Given the description of an element on the screen output the (x, y) to click on. 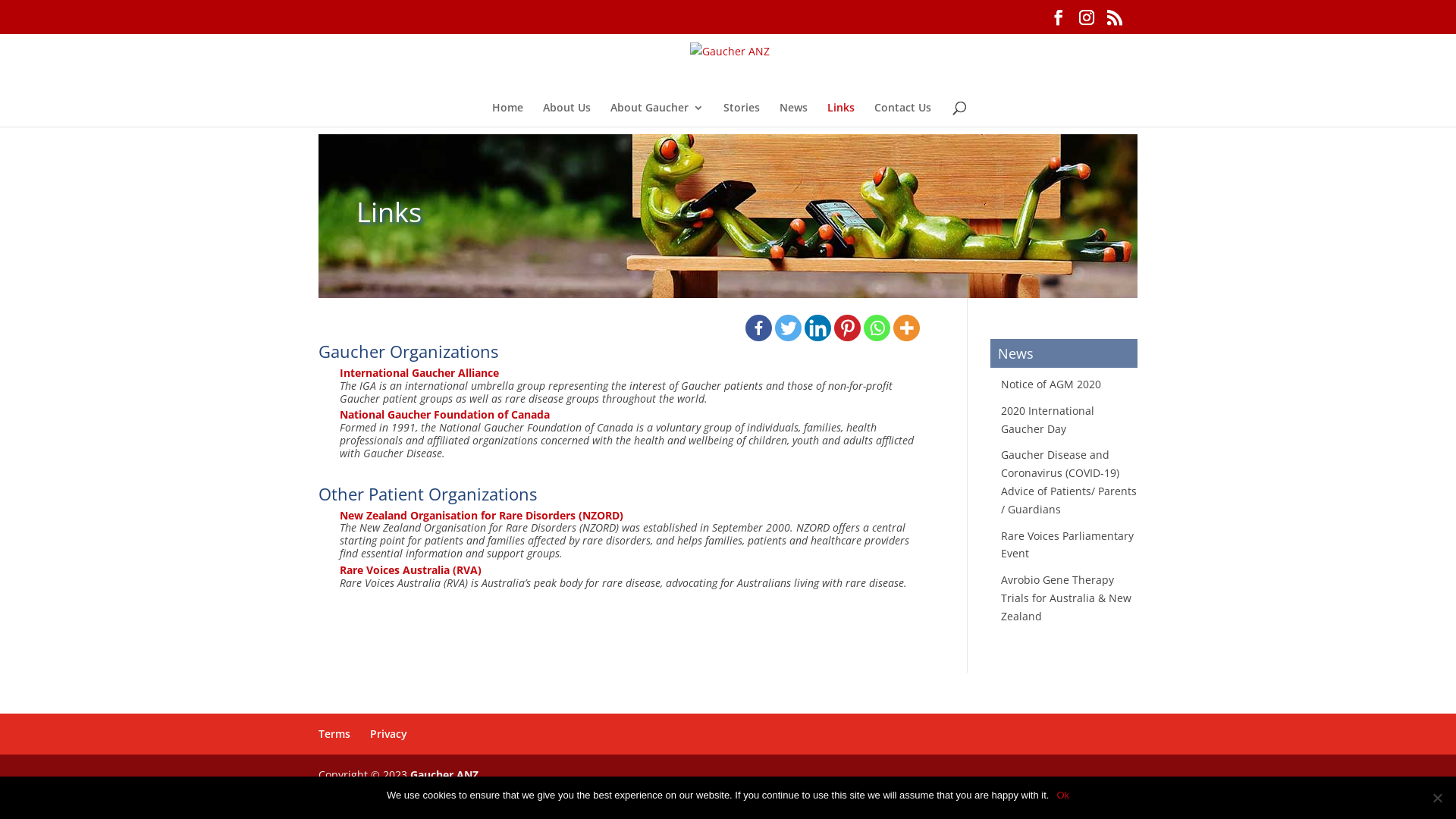
Whatsapp Element type: hover (876, 327)
National Gaucher Foundation of Canada Element type: text (444, 414)
News Element type: text (793, 114)
Pinterest Element type: hover (847, 327)
Home Element type: text (506, 114)
Avrobio Gene Therapy Trials for Australia & New Zealand Element type: text (1066, 597)
No Element type: hover (1436, 797)
Contact Us Element type: text (901, 114)
Terms Element type: text (334, 733)
2020 International Gaucher Day Element type: text (1047, 419)
Notice of AGM 2020 Element type: text (1051, 383)
Twitter Element type: hover (788, 327)
Stories Element type: text (741, 114)
Rare Voices Australia (RVA) Element type: text (410, 569)
Privacy Element type: text (388, 733)
More Element type: hover (906, 327)
New Zealand Organisation for Rare Disorders (NZORD) Element type: text (481, 515)
International Gaucher Alliance Element type: text (418, 372)
Rare Voices Parliamentary Event Element type: text (1067, 544)
Ok Element type: text (1062, 795)
Gaucher ANZ Element type: text (444, 774)
About Gaucher Element type: text (655, 114)
About Us Element type: text (566, 114)
Facebook Element type: hover (758, 327)
Links Element type: text (839, 114)
Linkedin Element type: hover (817, 327)
